Given the description of an element on the screen output the (x, y) to click on. 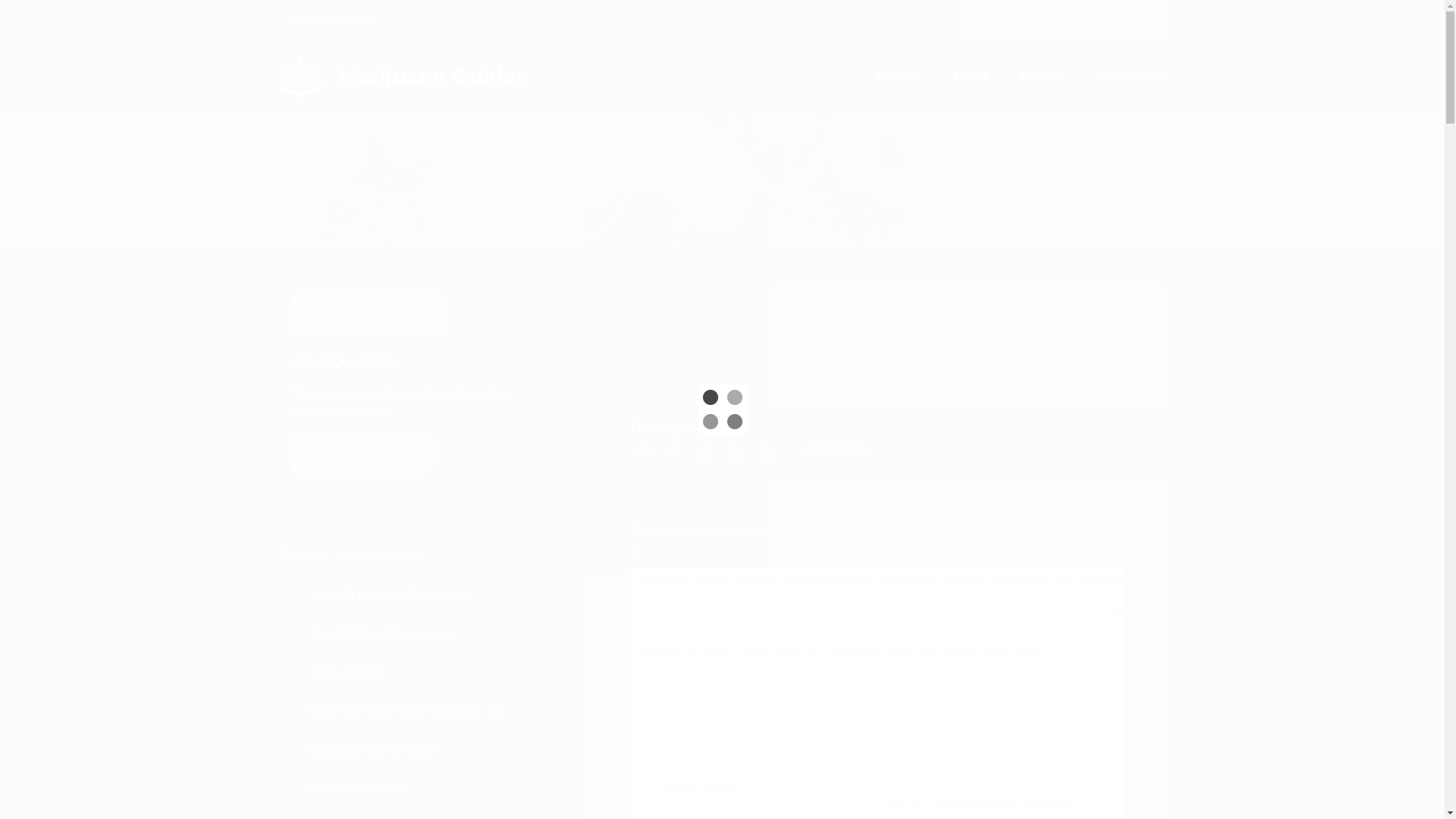
Marijuana Guides Home (404, 74)
Cannabis Ecosystem Open Beta 08.04 (352, 19)
Marijuana Guides (404, 83)
Find Your Perfect Strain (1063, 18)
Strain Finder (1063, 18)
